Given the description of an element on the screen output the (x, y) to click on. 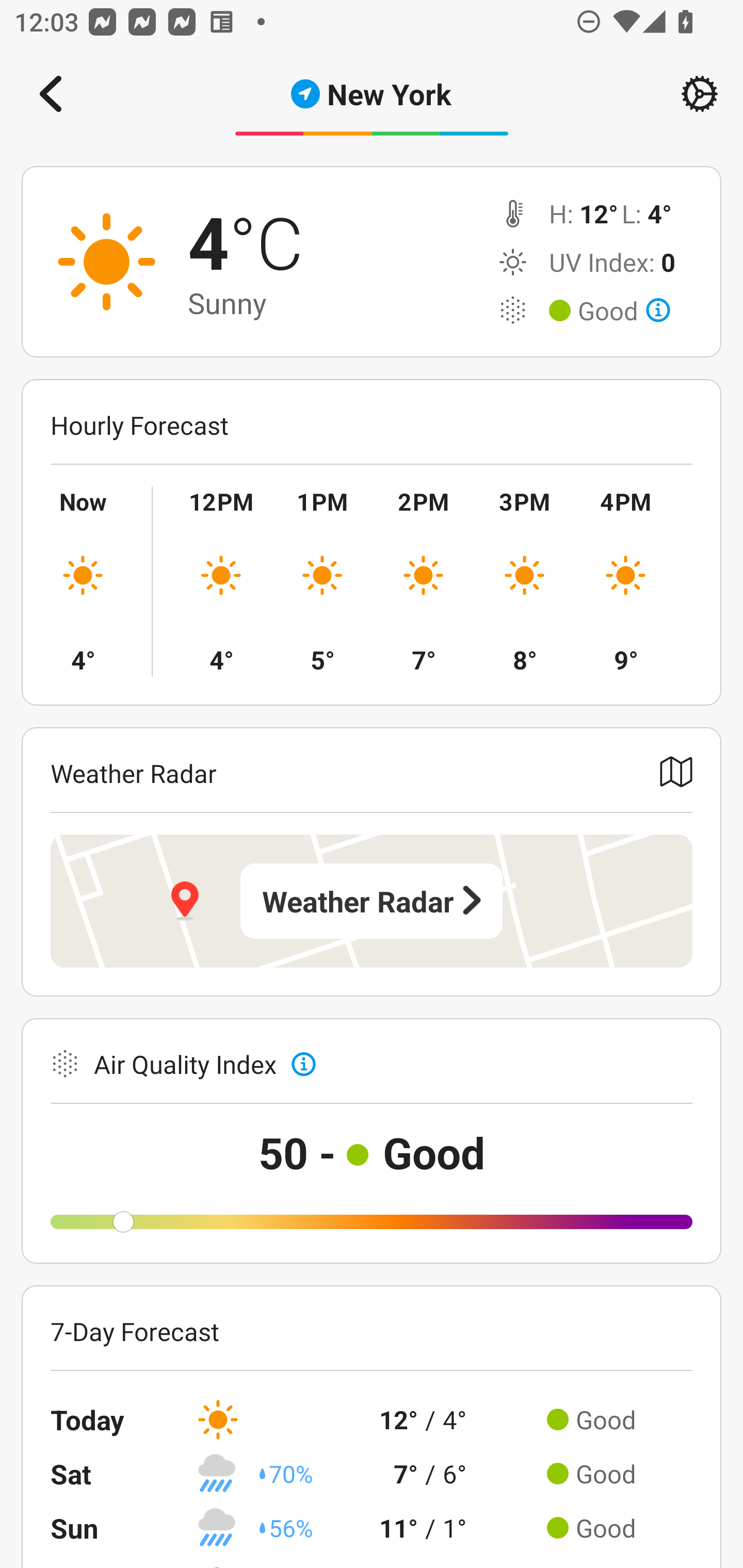
Navigate up (50, 93)
Setting (699, 93)
Good (624, 310)
Weather Radar (371, 900)
